Given the description of an element on the screen output the (x, y) to click on. 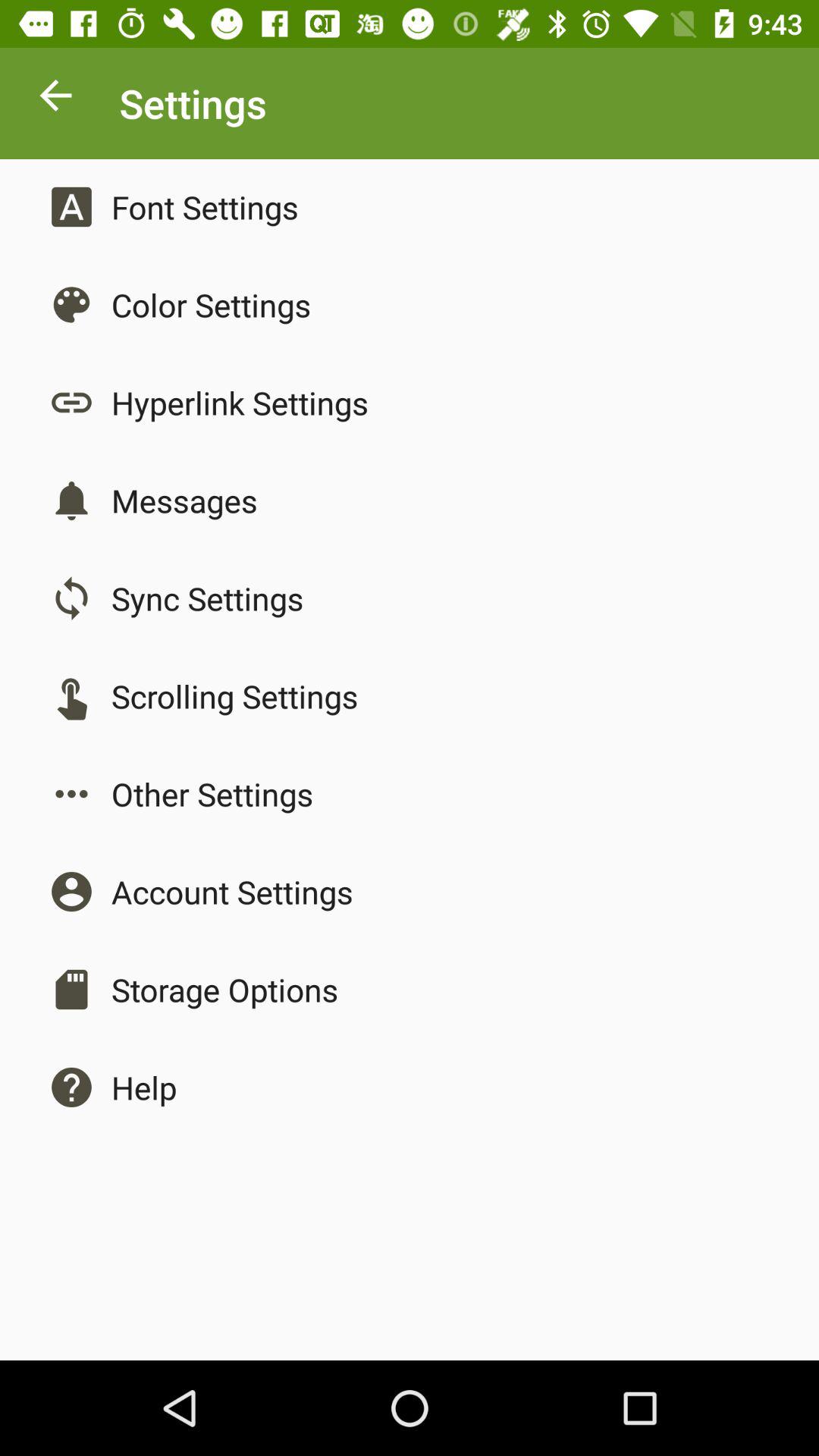
press the app below font settings (211, 304)
